Given the description of an element on the screen output the (x, y) to click on. 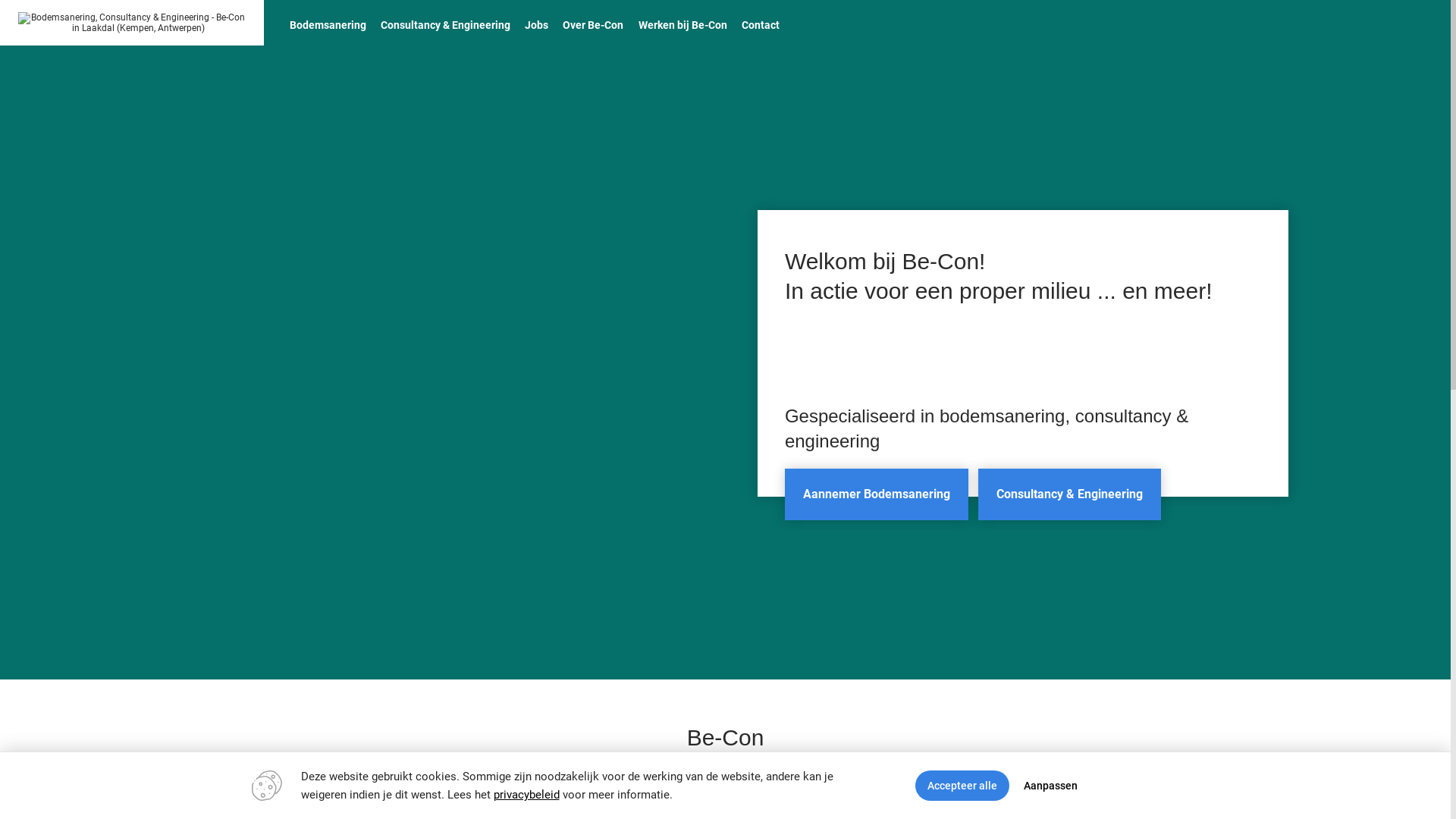
Over Be-Con Element type: text (592, 24)
Accepteer alle Element type: text (961, 785)
Consultancy & Engineering Element type: text (445, 24)
Aanpassen Element type: text (1050, 785)
privacybeleid Element type: text (525, 794)
Contact Element type: text (760, 24)
Aannemer Bodemsanering Element type: text (876, 494)
Jobs Element type: text (536, 24)
Consultancy & Engineering Element type: text (1069, 494)
Bodemsanering Element type: text (327, 24)
Werken bij Be-Con Element type: text (682, 24)
